Given the description of an element on the screen output the (x, y) to click on. 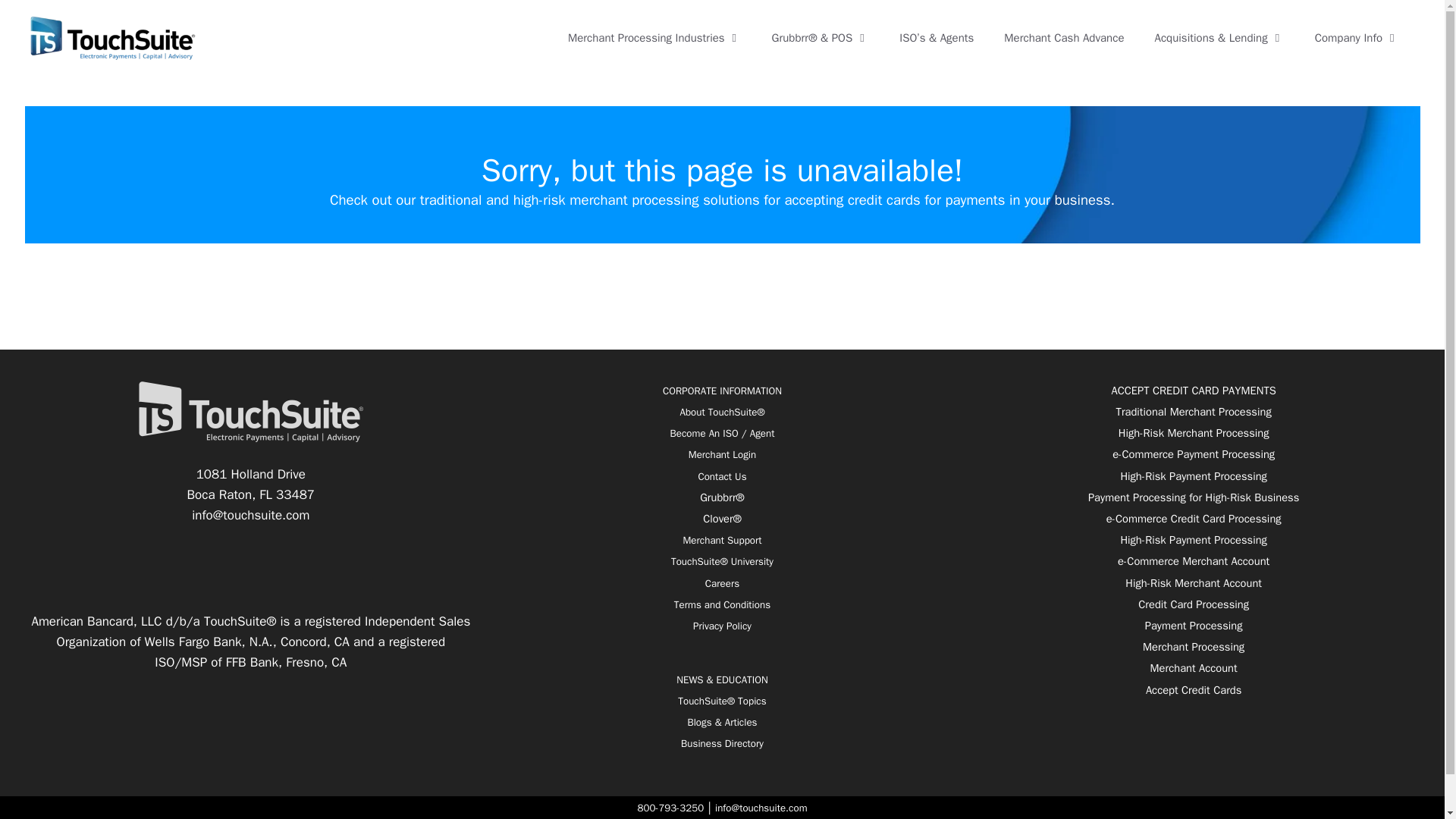
Merchant Processing Industries (655, 37)
Merchant Cash Advance (1063, 37)
Merchant Login (721, 454)
Company Info (1356, 37)
